Given the description of an element on the screen output the (x, y) to click on. 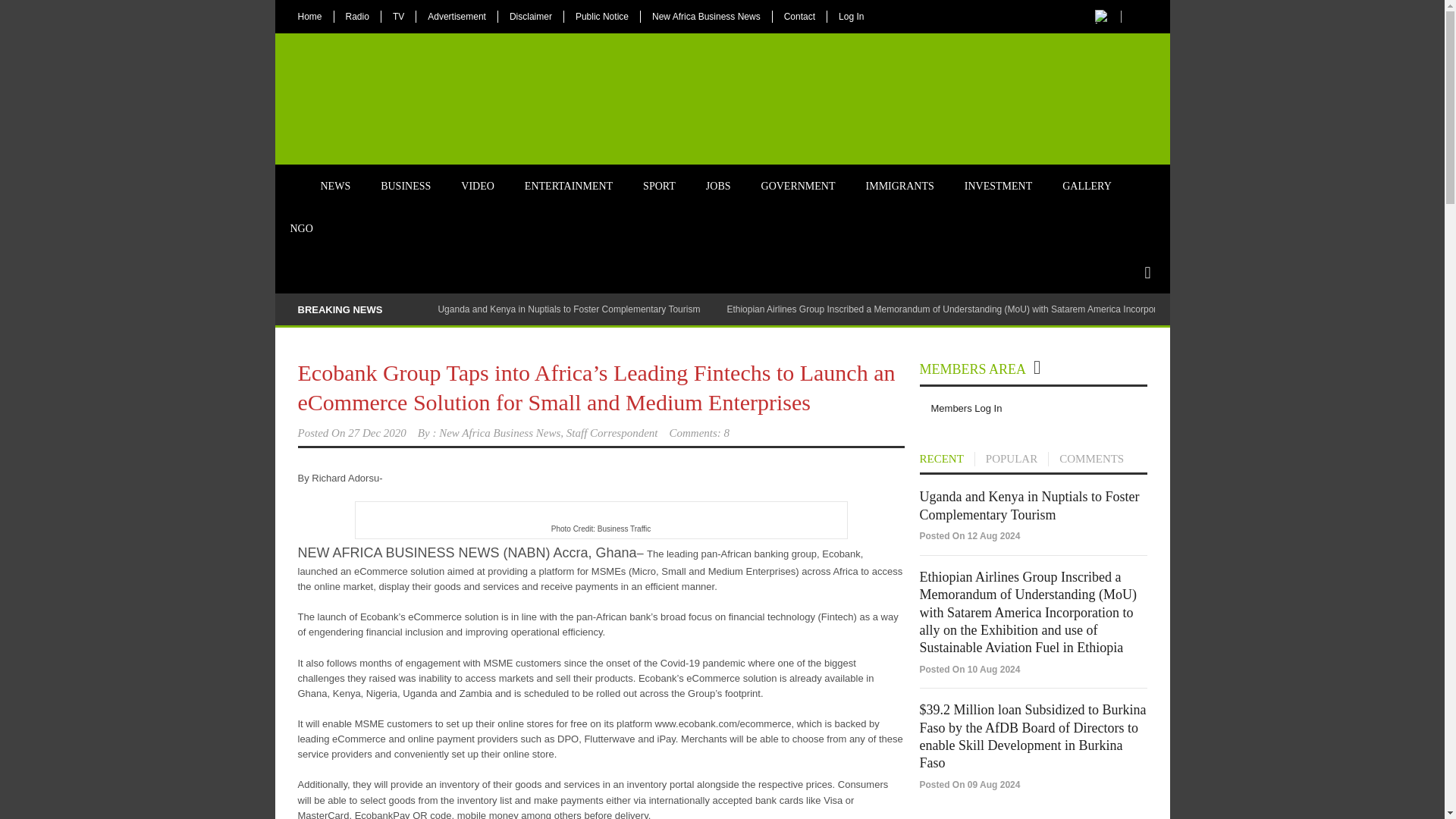
Home (289, 177)
New Africa Business News (705, 16)
Public Notice (601, 16)
Disclaimer (530, 16)
Advertisement (455, 16)
Radio (356, 16)
BUSINESS (405, 186)
27 Dec 2020 (376, 432)
NEWS (334, 186)
JOBS (717, 186)
